Given the description of an element on the screen output the (x, y) to click on. 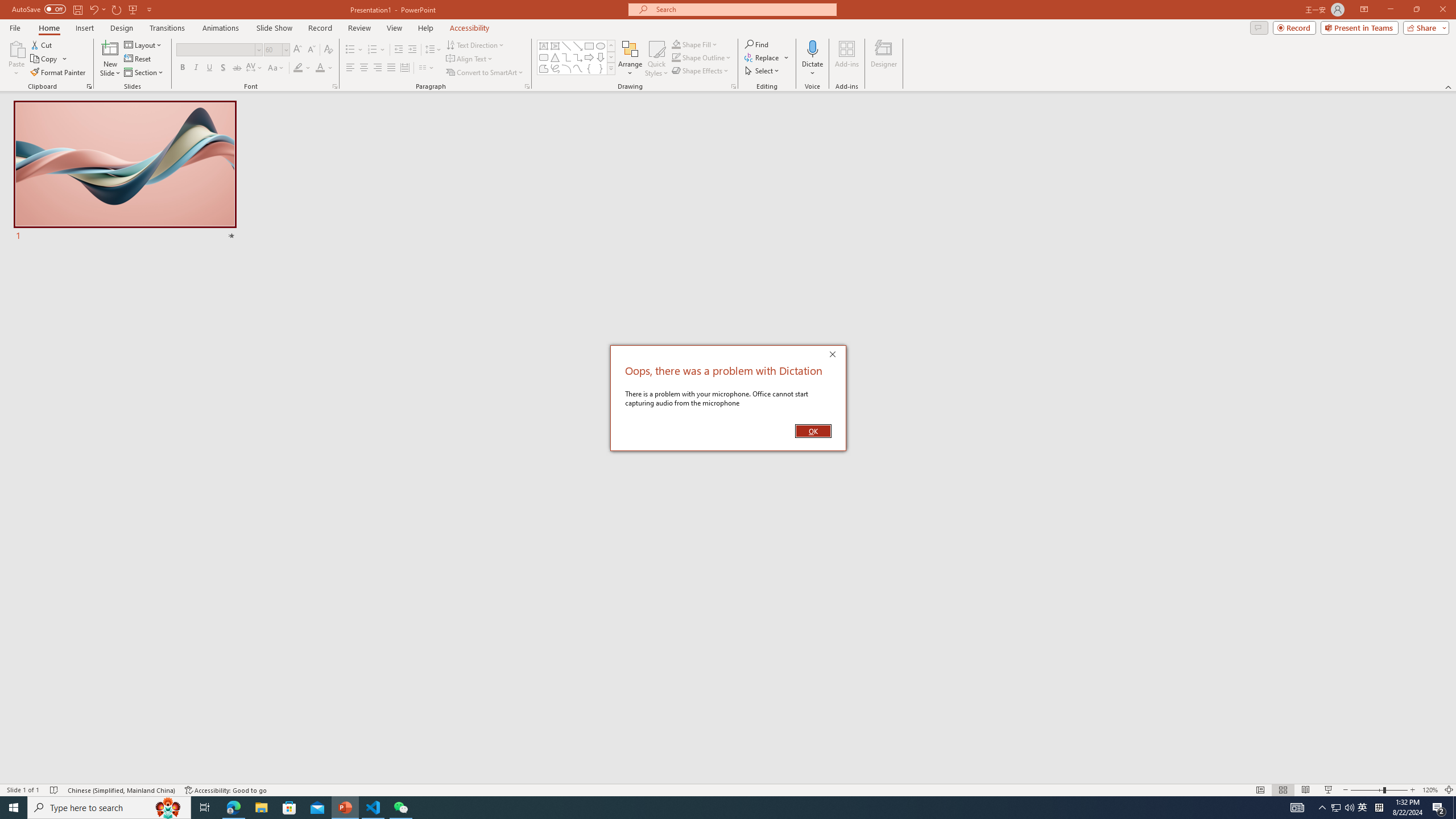
Select (762, 69)
Rectangle: Rounded Corners (543, 57)
Action Center, 2 new notifications (1439, 807)
Format Painter (58, 72)
